Given the description of an element on the screen output the (x, y) to click on. 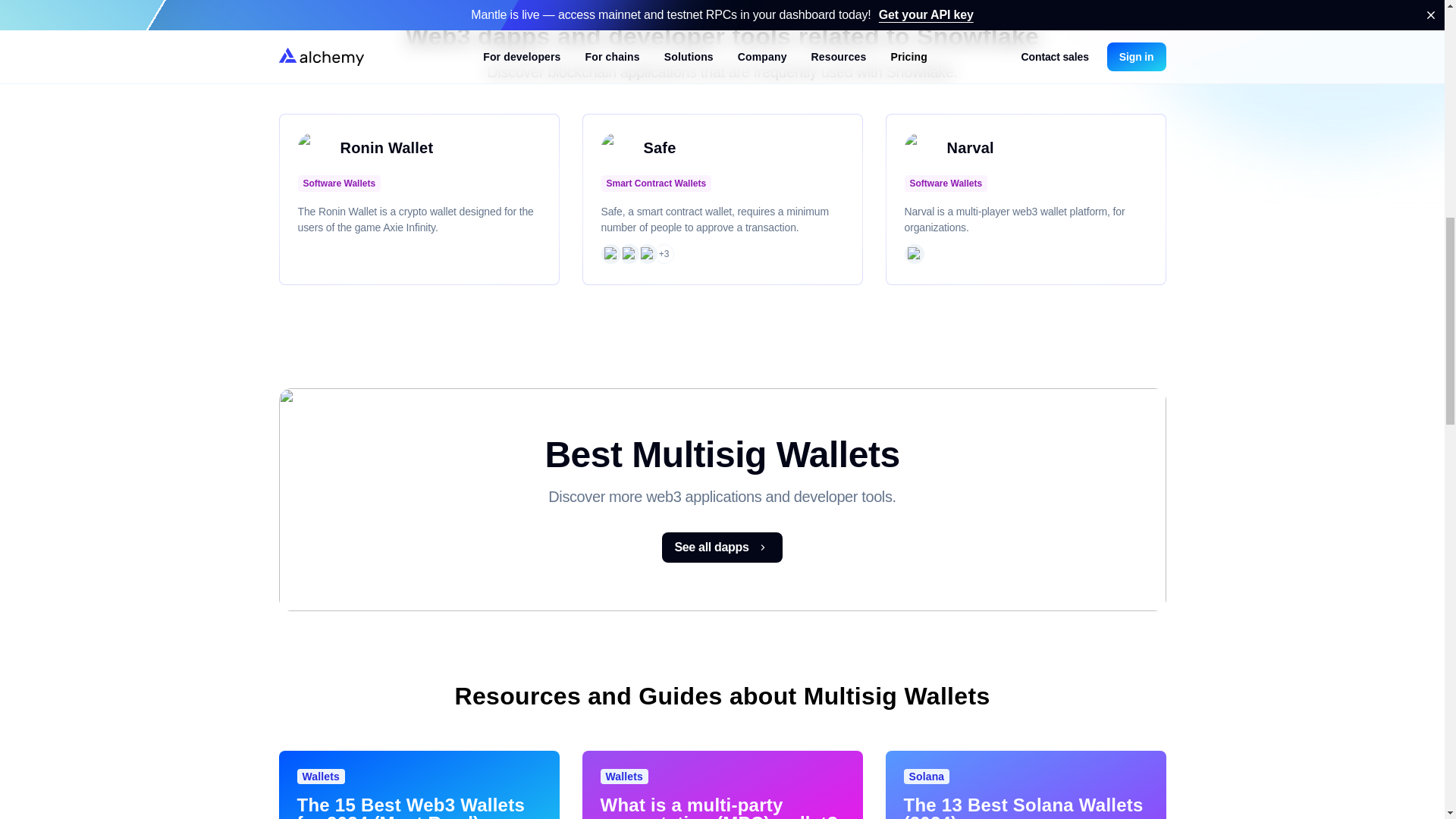
Ethereum (610, 254)
Polygon (627, 254)
Avalanche (646, 254)
Polygon (913, 254)
